Given the description of an element on the screen output the (x, y) to click on. 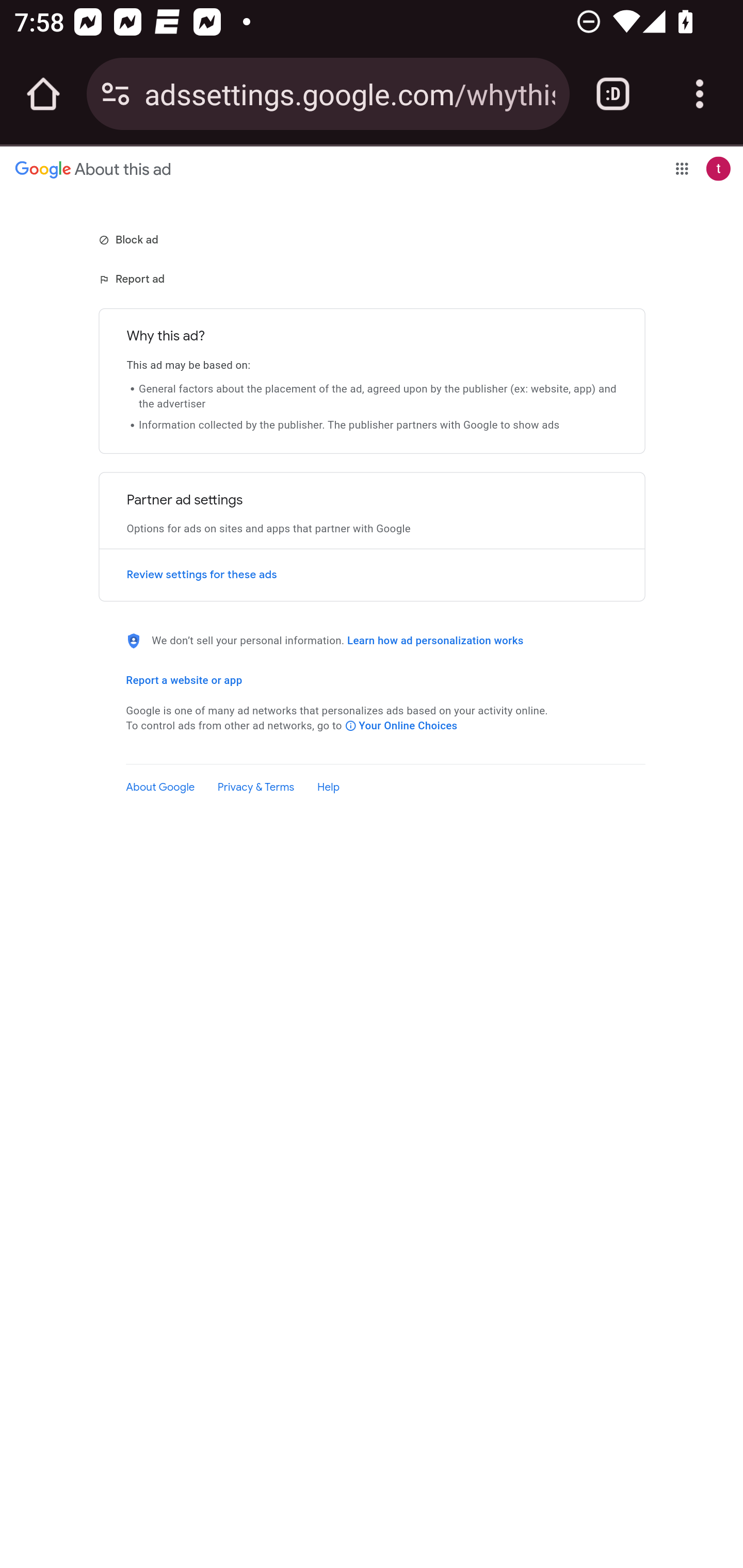
Open the home page (43, 93)
Connection is secure (115, 93)
Switch or close tabs (612, 93)
Customize and control Google Chrome (699, 93)
adssettings.google.com/whythisad (349, 92)
Google apps (681, 168)
Block ad (129, 239)
Report ad (opens in new tab) Report ad (133, 278)
Review settings for these ads (371, 574)
Learn how ad personalization works (434, 641)
Report a website or app (183, 680)
Your Online Choices (400, 725)
About Google (159, 787)
Privacy & Terms (255, 787)
Help (328, 787)
